Given the description of an element on the screen output the (x, y) to click on. 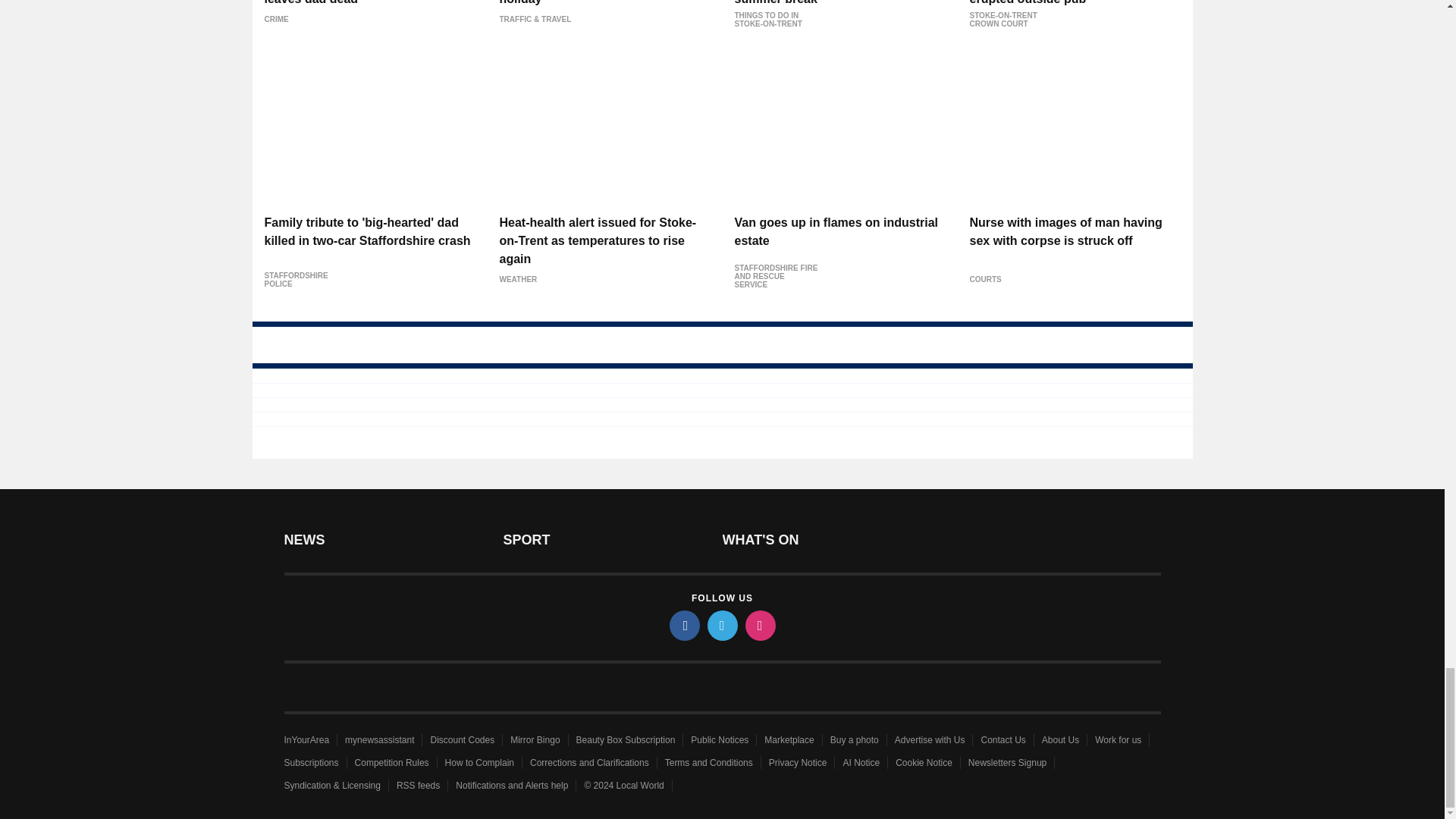
facebook (683, 625)
instagram (759, 625)
twitter (721, 625)
